Given the description of an element on the screen output the (x, y) to click on. 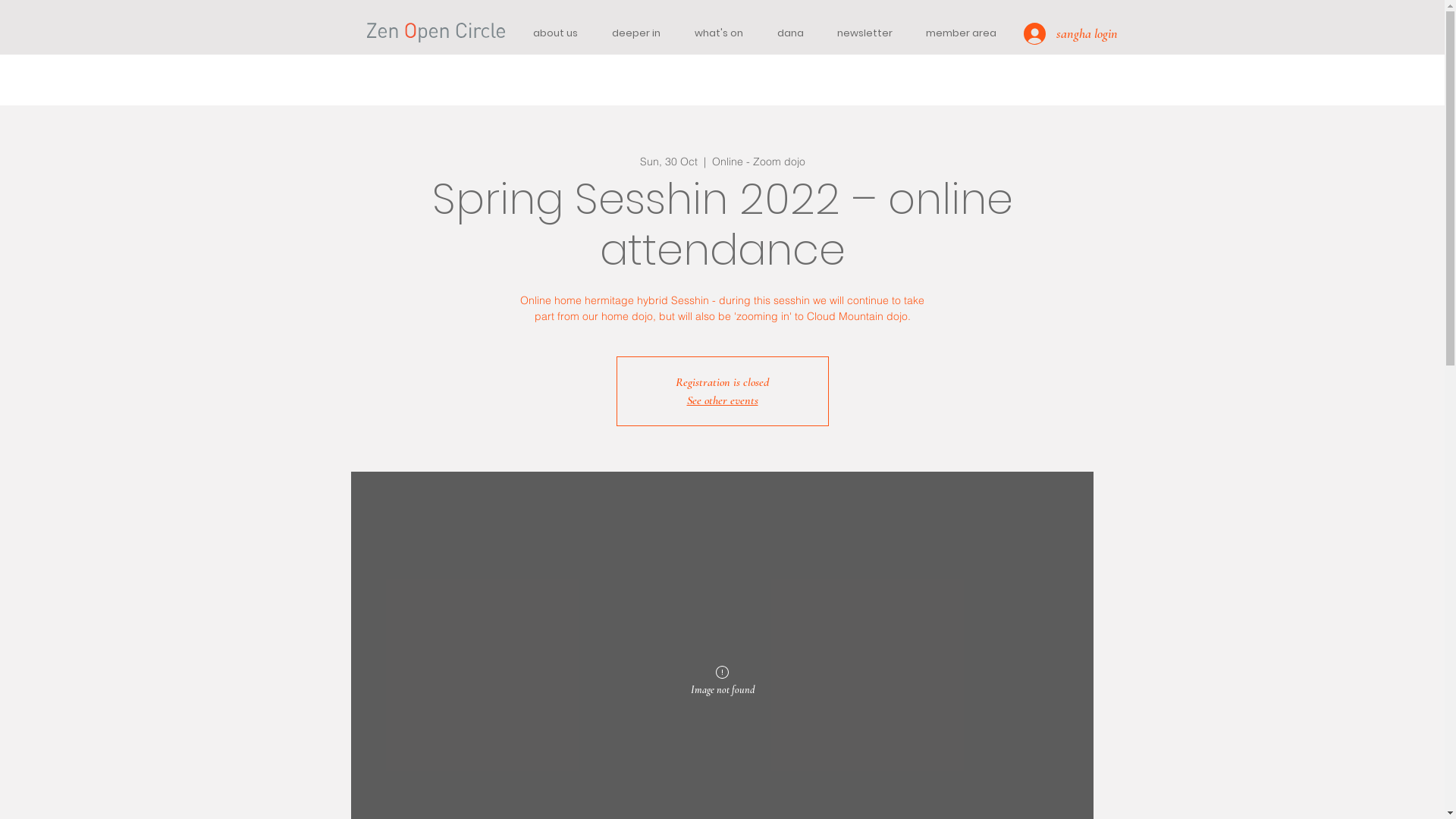
member area Element type: text (960, 33)
newsletter Element type: text (864, 33)
sangha login Element type: text (1049, 33)
about us Element type: text (554, 33)
deeper in Element type: text (635, 33)
dana Element type: text (789, 33)
what's on Element type: text (718, 33)
See other events Element type: text (722, 399)
